Given the description of an element on the screen output the (x, y) to click on. 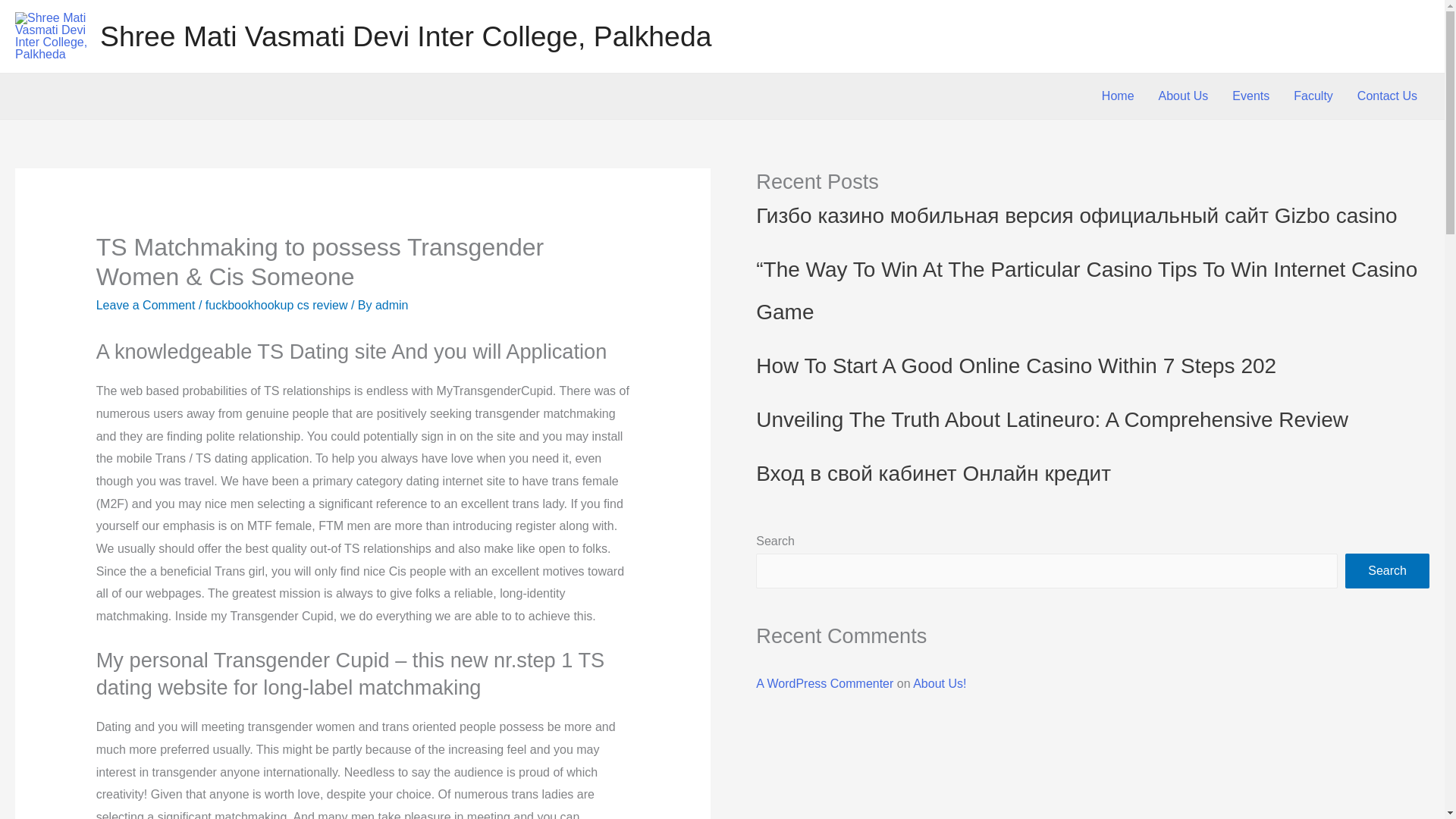
Faculty (1313, 95)
A WordPress Commenter (824, 683)
Events (1250, 95)
About Us! (939, 683)
Leave a Comment (145, 305)
How To Start A Good Online Casino Within 7 Steps 202 (1015, 365)
Home (1118, 95)
About Us (1184, 95)
View all posts by admin (392, 305)
Contact Us (1387, 95)
